Given the description of an element on the screen output the (x, y) to click on. 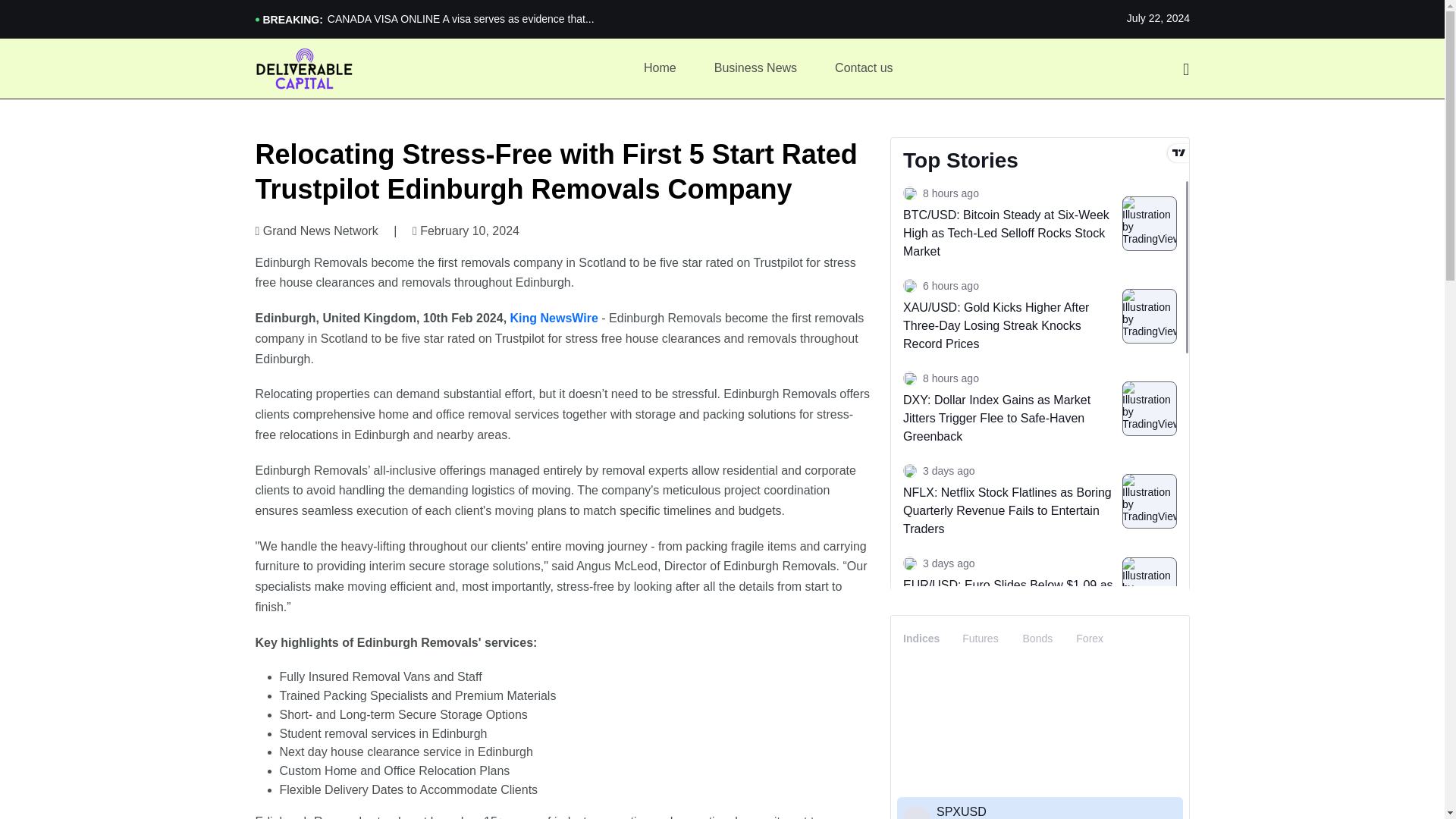
King NewsWire (554, 318)
Business News (755, 68)
market overview TradingView widget (1039, 717)
CANADA VISA ONLINE A visa serves as evidence that... (724, 19)
Home (659, 68)
Contact us (863, 68)
